Given the description of an element on the screen output the (x, y) to click on. 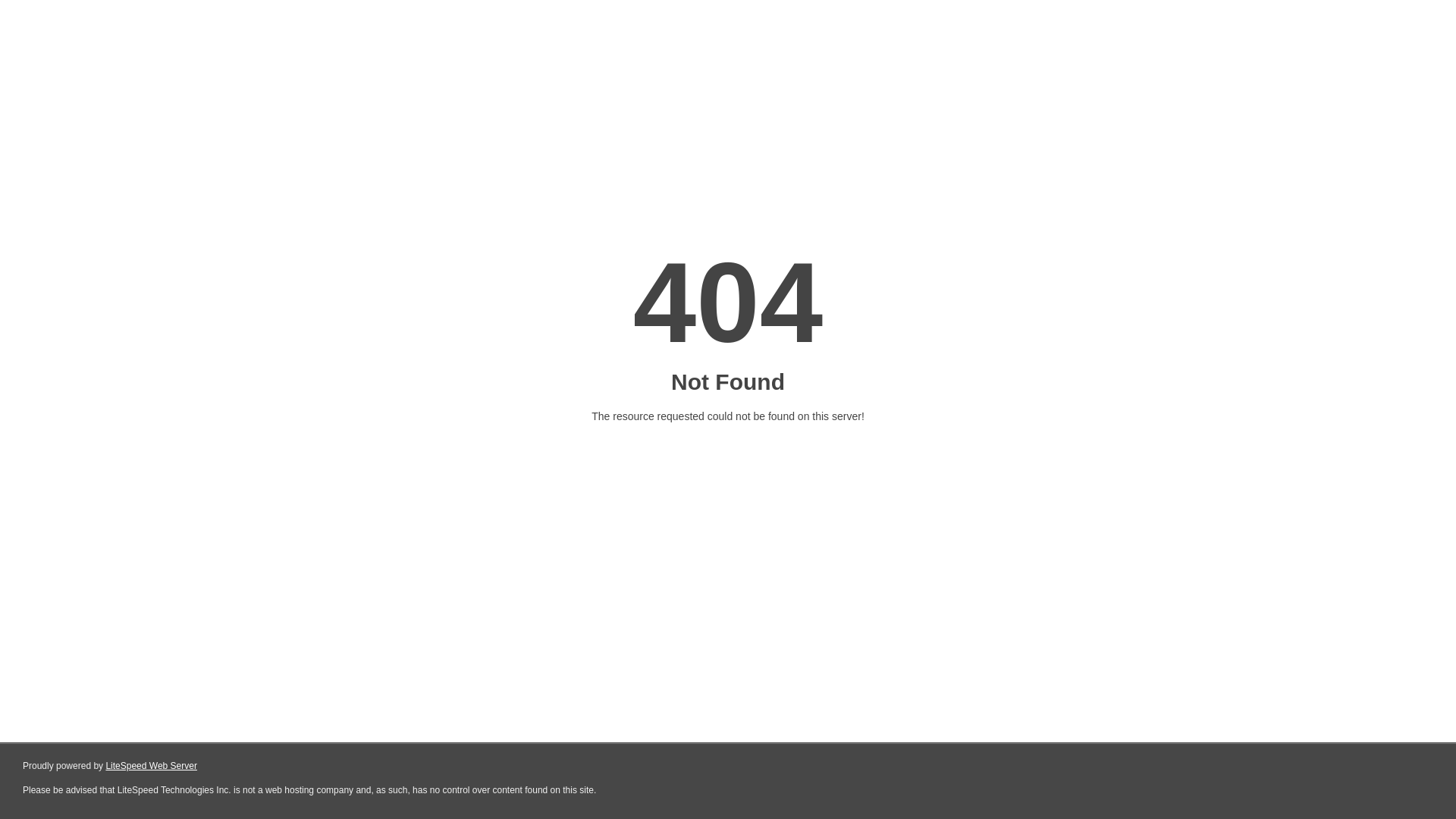
LiteSpeed Web Server Element type: text (151, 765)
